Given the description of an element on the screen output the (x, y) to click on. 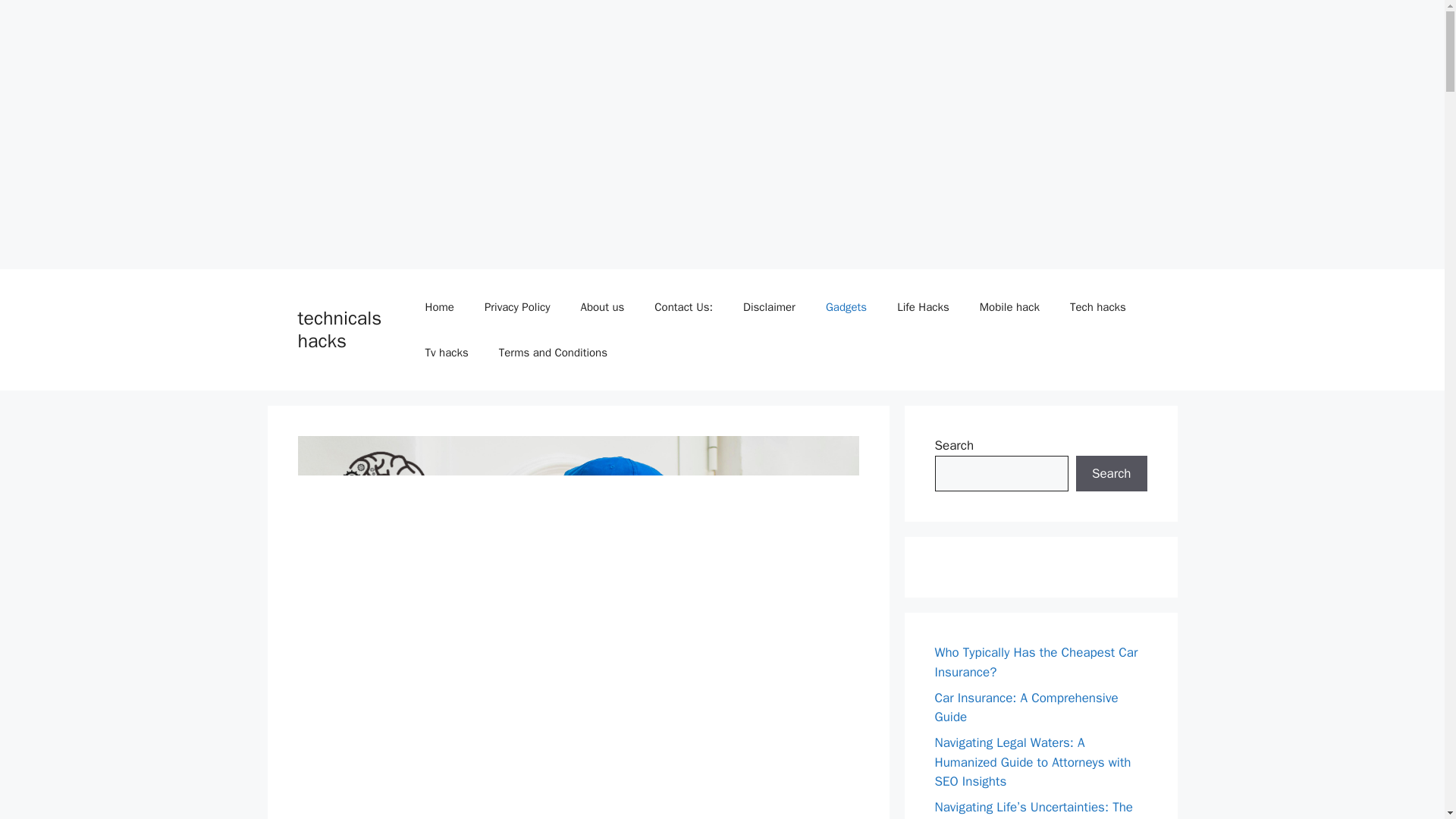
Mobile hack (1008, 307)
Who Typically Has the Cheapest Car Insurance? (1035, 662)
technicals hacks (339, 329)
Tv hacks (446, 352)
Tech hacks (1097, 307)
Search (1111, 473)
About us (601, 307)
Contact Us: (683, 307)
